Given the description of an element on the screen output the (x, y) to click on. 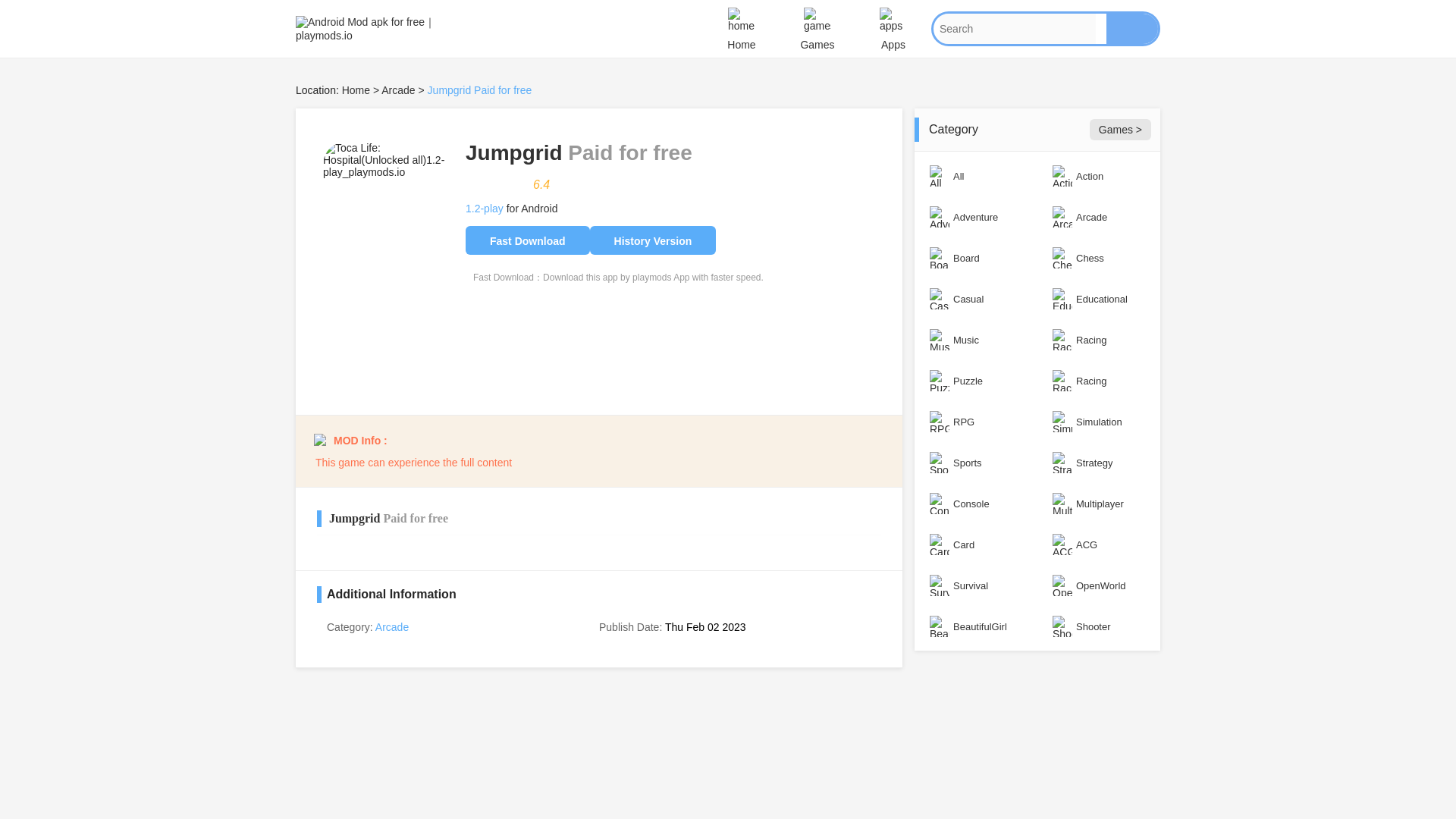
Educational (1098, 298)
Card (975, 544)
Puzzle (975, 380)
Board (975, 257)
Racing (1098, 339)
Sports (975, 462)
All (975, 175)
Games (817, 28)
Arcade (1098, 216)
Multiplayer (1098, 503)
Action (1098, 175)
OpenWorld (1098, 585)
Chess (1098, 257)
Simulation (1098, 421)
Music (975, 339)
